Given the description of an element on the screen output the (x, y) to click on. 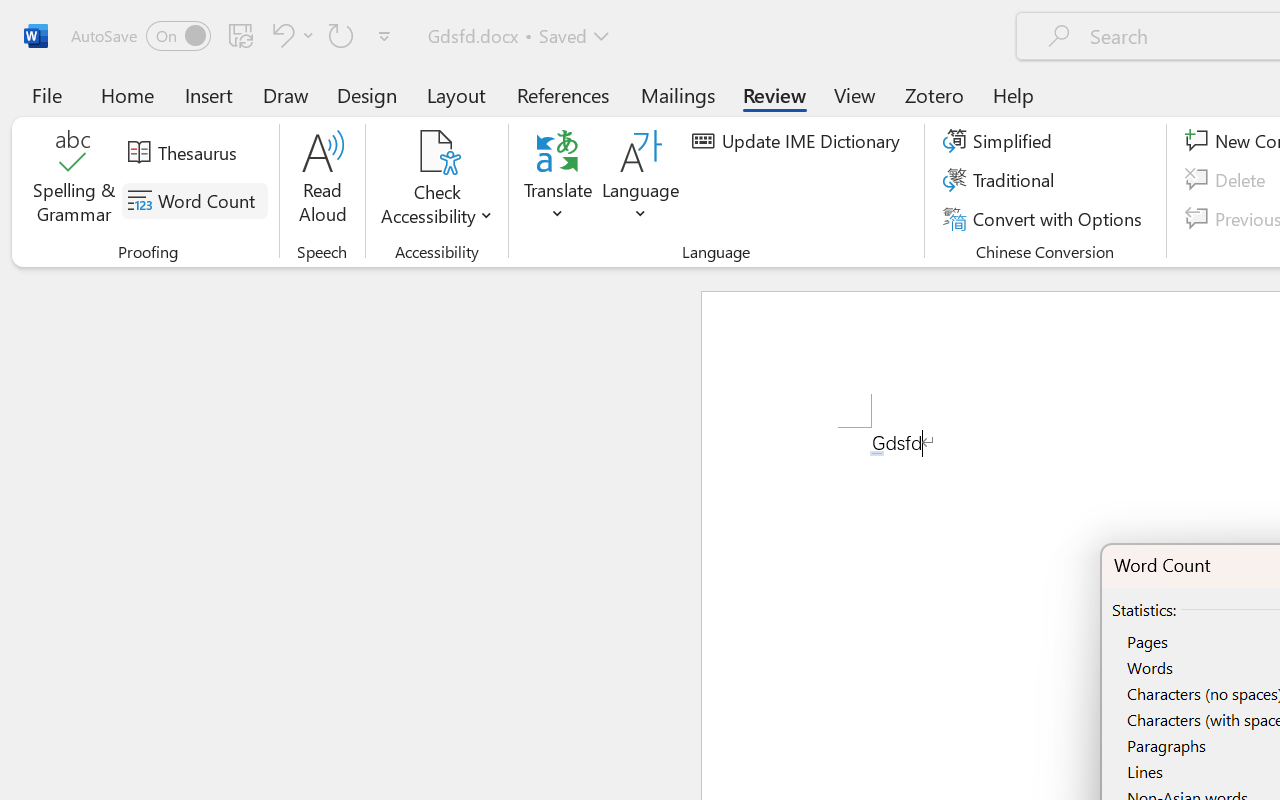
Can't Repeat (341, 35)
Traditional (1001, 179)
Translate (558, 179)
Delete (1227, 179)
Spelling & Grammar (74, 180)
Read Aloud (322, 179)
